Given the description of an element on the screen output the (x, y) to click on. 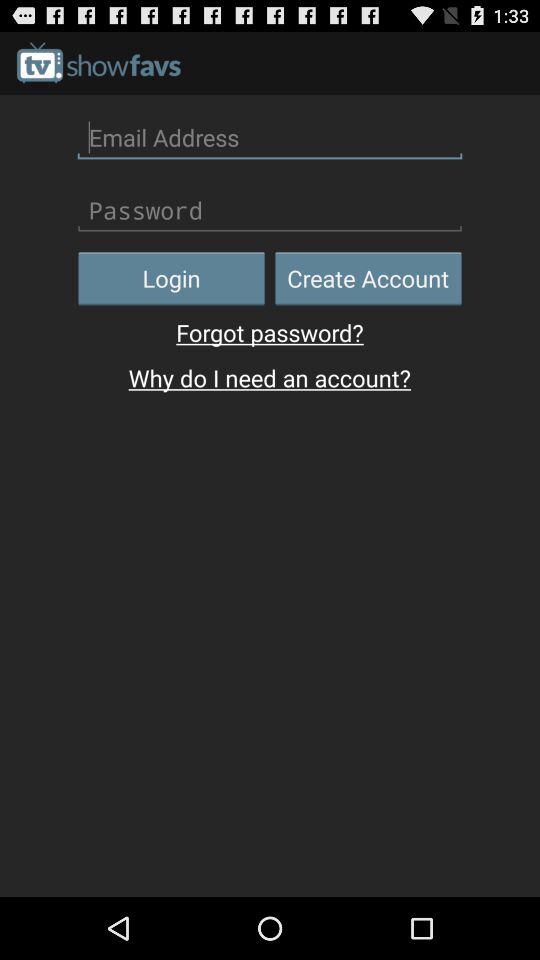
add email address (269, 137)
